Given the description of an element on the screen output the (x, y) to click on. 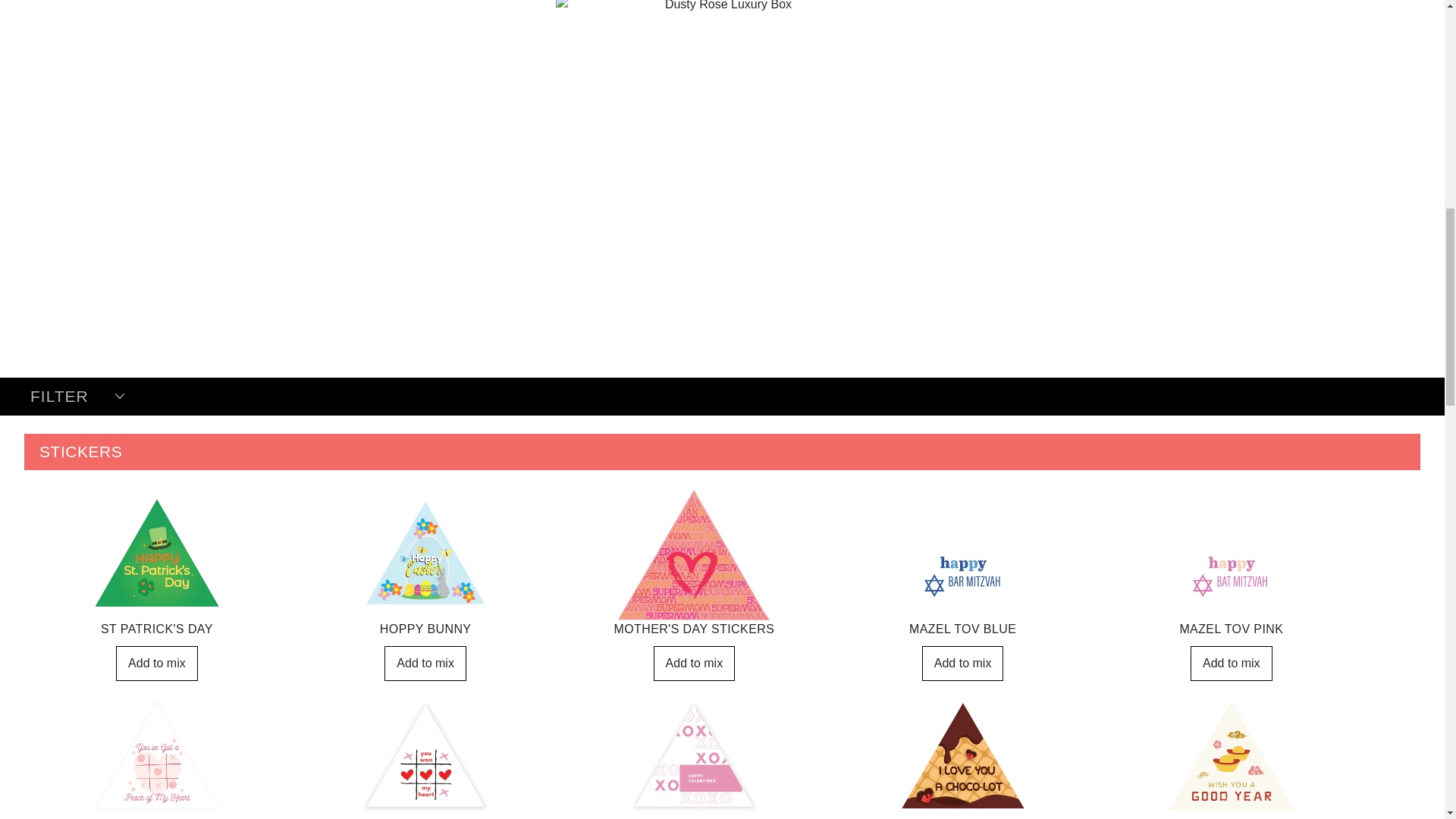
Mazel Tov Pink (1231, 663)
St Patrick's Day (157, 663)
Mother's Day Stickers (694, 663)
Hoppy Bunny (424, 663)
Mazel Tov Blue (962, 663)
